Given the description of an element on the screen output the (x, y) to click on. 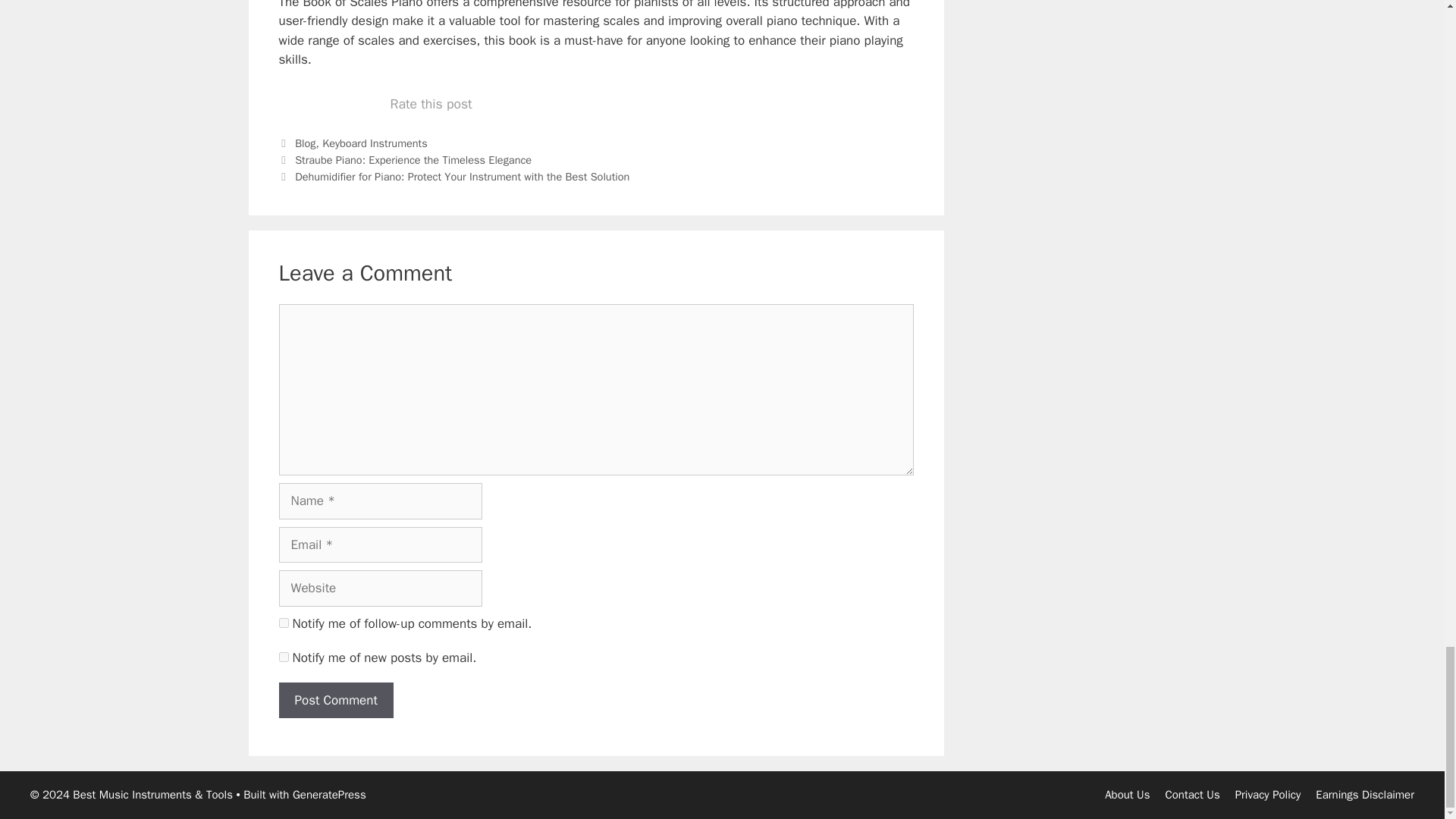
Post Comment (336, 700)
subscribe (283, 656)
subscribe (283, 623)
